Given the description of an element on the screen output the (x, y) to click on. 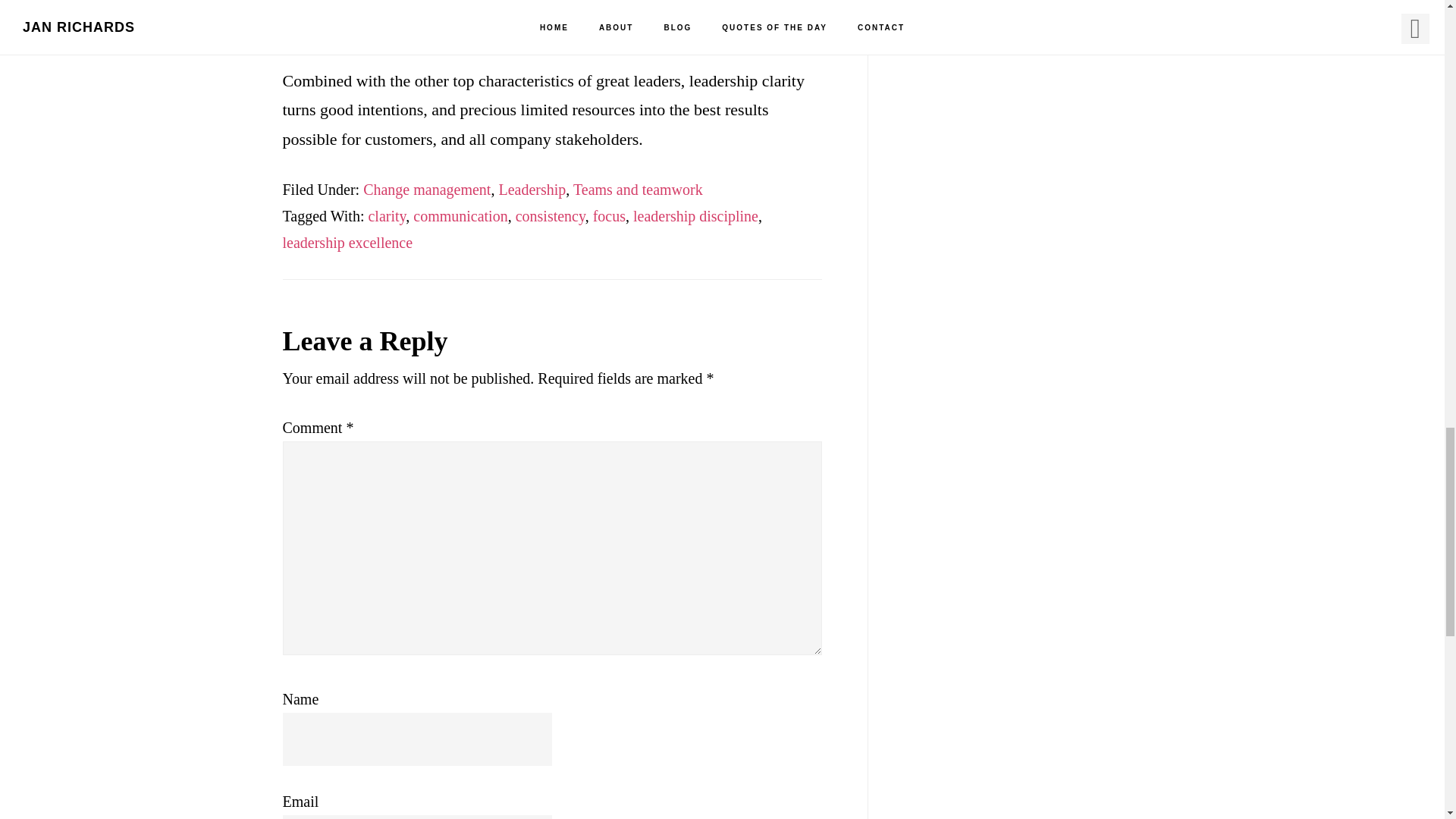
Change management (426, 189)
clarity (387, 216)
focus (609, 216)
Leadership (531, 189)
Teams and teamwork (638, 189)
leadership discipline (695, 216)
leadership excellence (347, 242)
consistency (550, 216)
communication (459, 216)
